Given the description of an element on the screen output the (x, y) to click on. 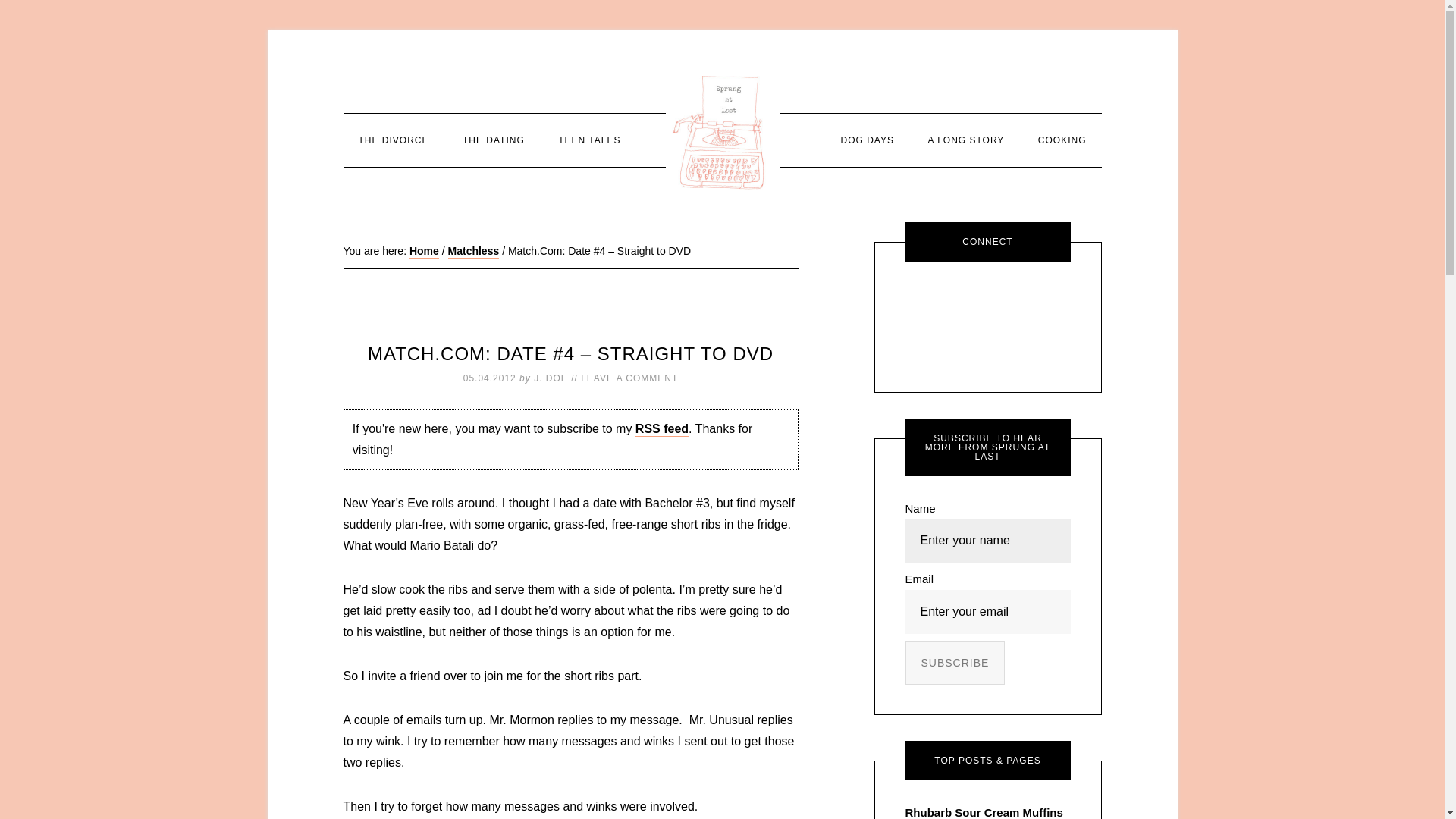
Pinterest (945, 343)
COOKING (1062, 140)
A LONG STORY (965, 140)
THE DIVORCE (393, 140)
TEEN TALES (588, 140)
SPRUNG AT LAST (721, 132)
Home (424, 251)
Matchless (473, 251)
Instagram (1030, 301)
Rhubarb Sour Cream Muffins (983, 812)
Instagram (1029, 301)
Email (945, 301)
J. DOE (550, 378)
LEAVE A COMMENT (629, 378)
RSS feed (661, 429)
